Given the description of an element on the screen output the (x, y) to click on. 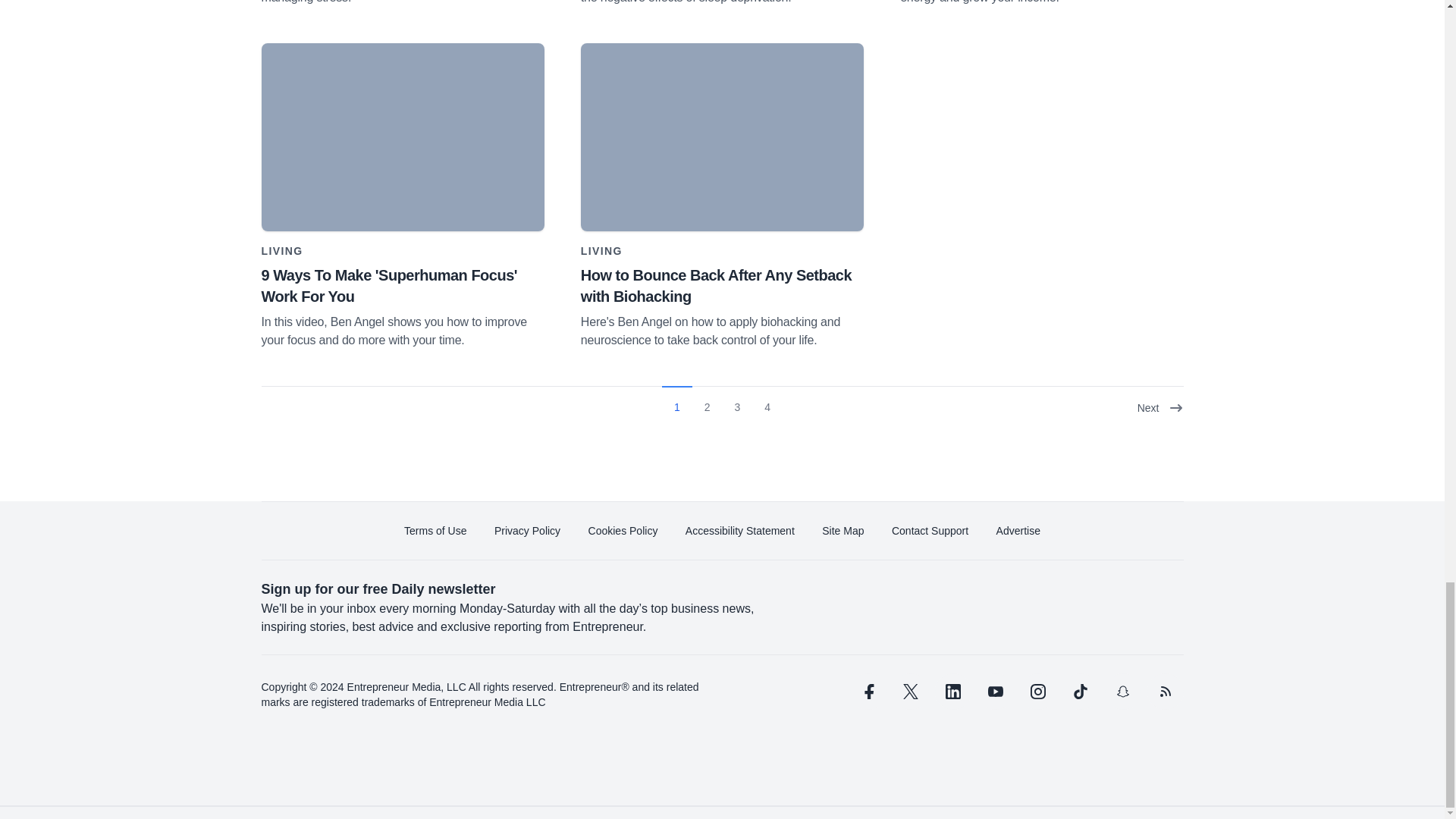
instagram (1037, 691)
twitter (909, 691)
youtube (994, 691)
rss (1164, 691)
linkedin (952, 691)
facebook (866, 691)
tiktok (1079, 691)
snapchat (1121, 691)
